Given the description of an element on the screen output the (x, y) to click on. 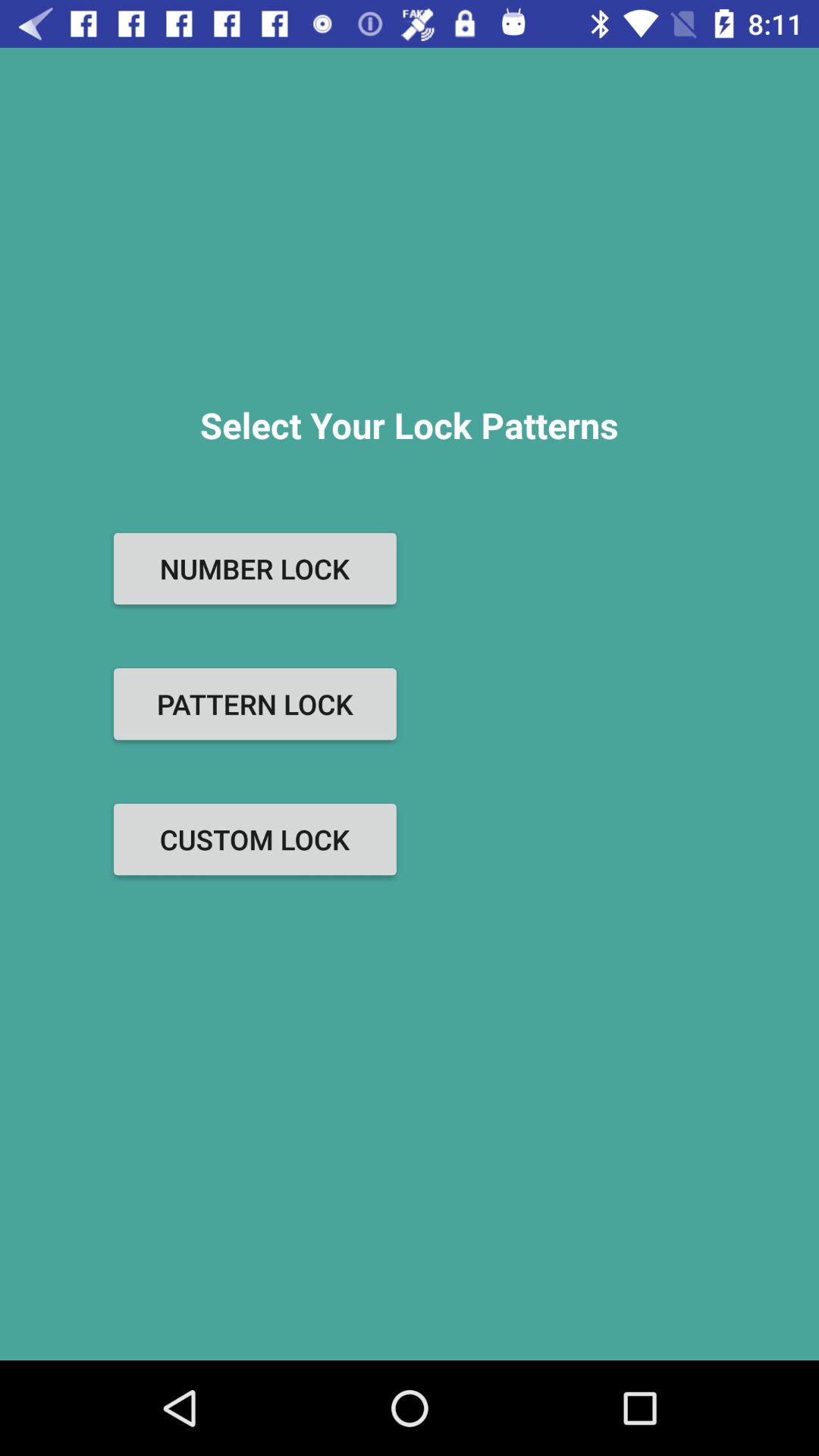
click pattern lock icon (254, 703)
